Given the description of an element on the screen output the (x, y) to click on. 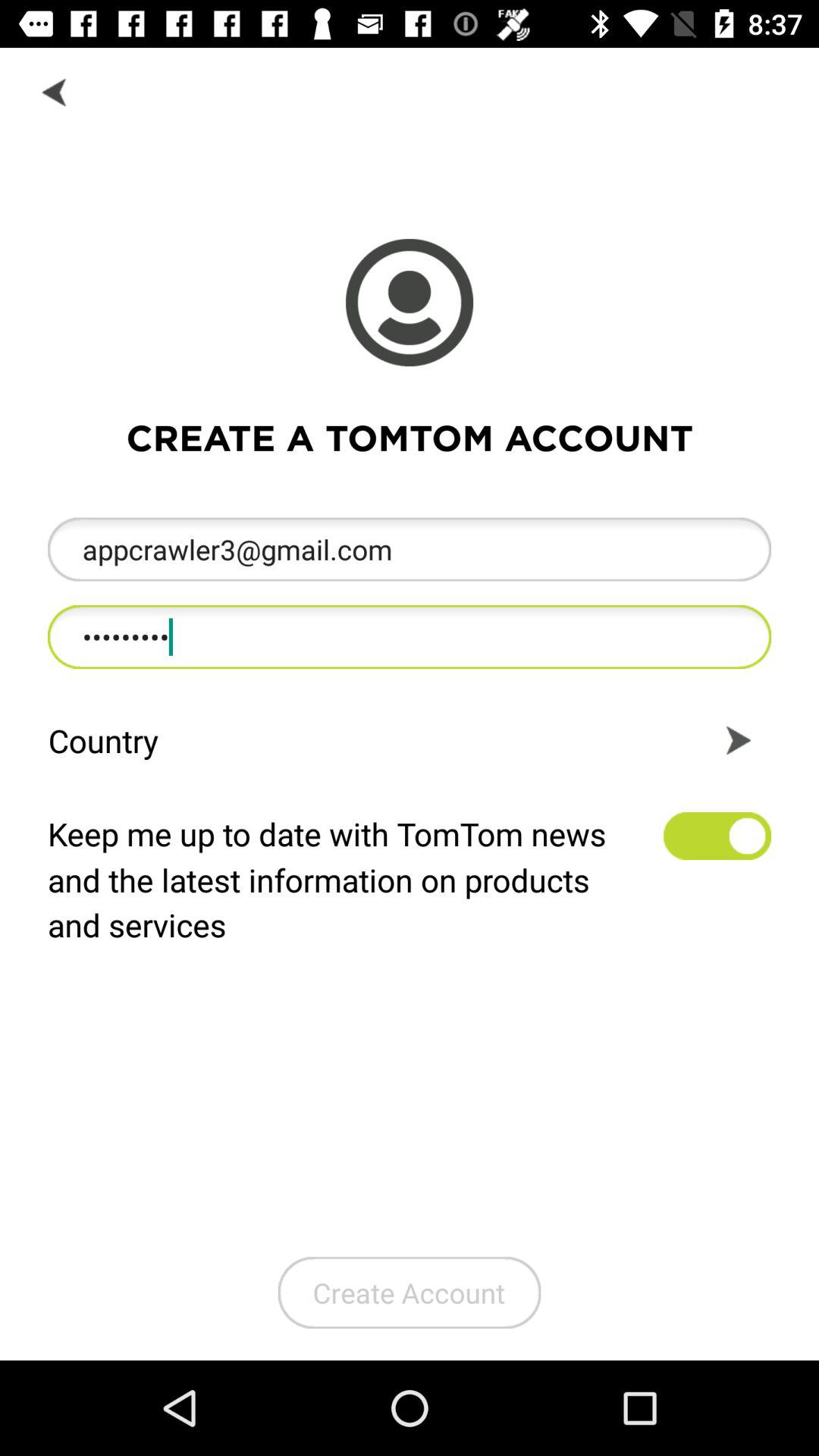
keep me up to date (717, 835)
